Given the description of an element on the screen output the (x, y) to click on. 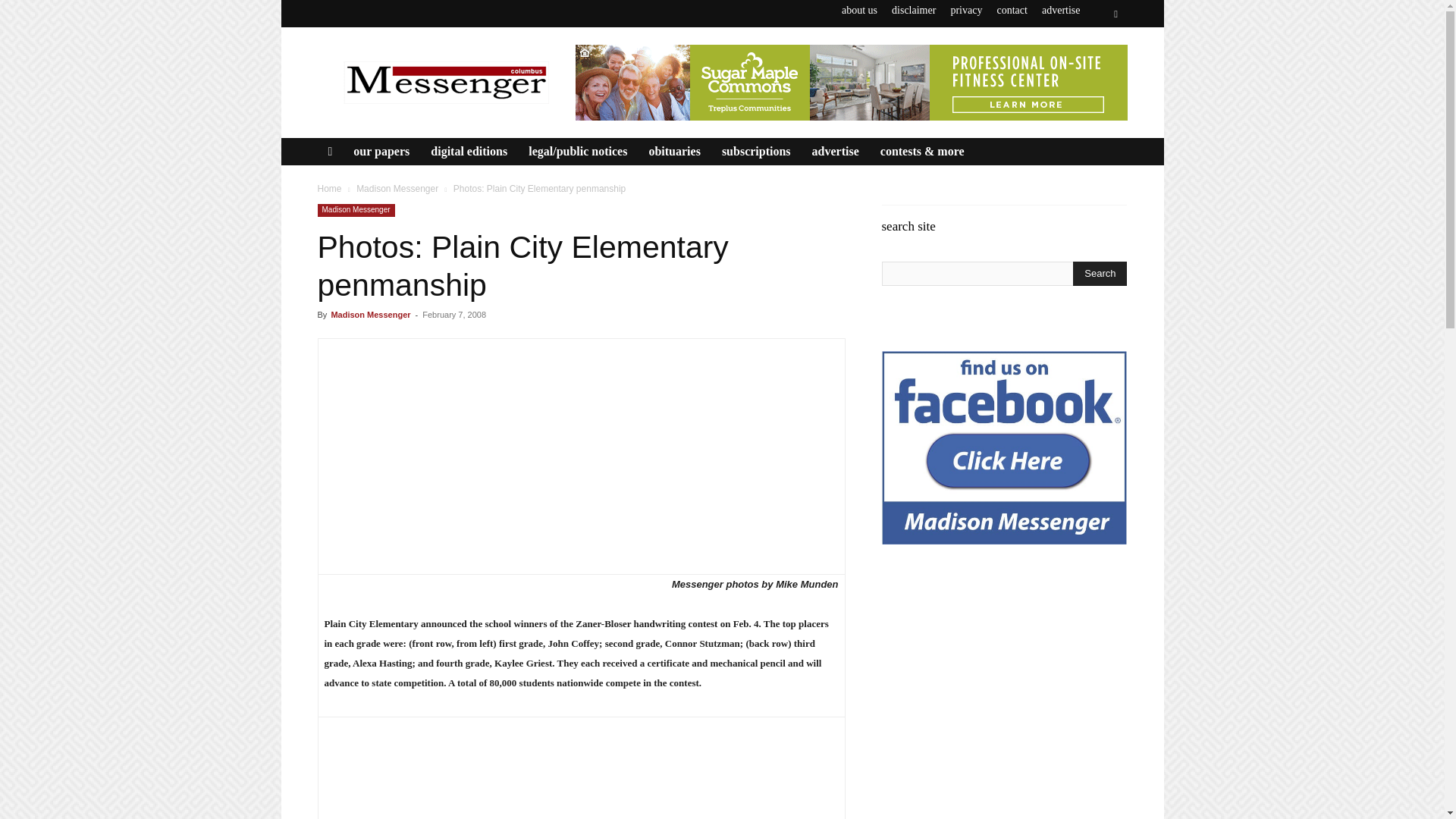
about us (859, 9)
Search (1099, 273)
Columbus Messenger - Ohios Newspaper (445, 82)
privacy (965, 9)
our papers (381, 151)
View all posts in Madison Messenger (397, 188)
contact (1010, 9)
disclaimer (913, 9)
Search (1085, 70)
advertise (1061, 9)
